Given the description of an element on the screen output the (x, y) to click on. 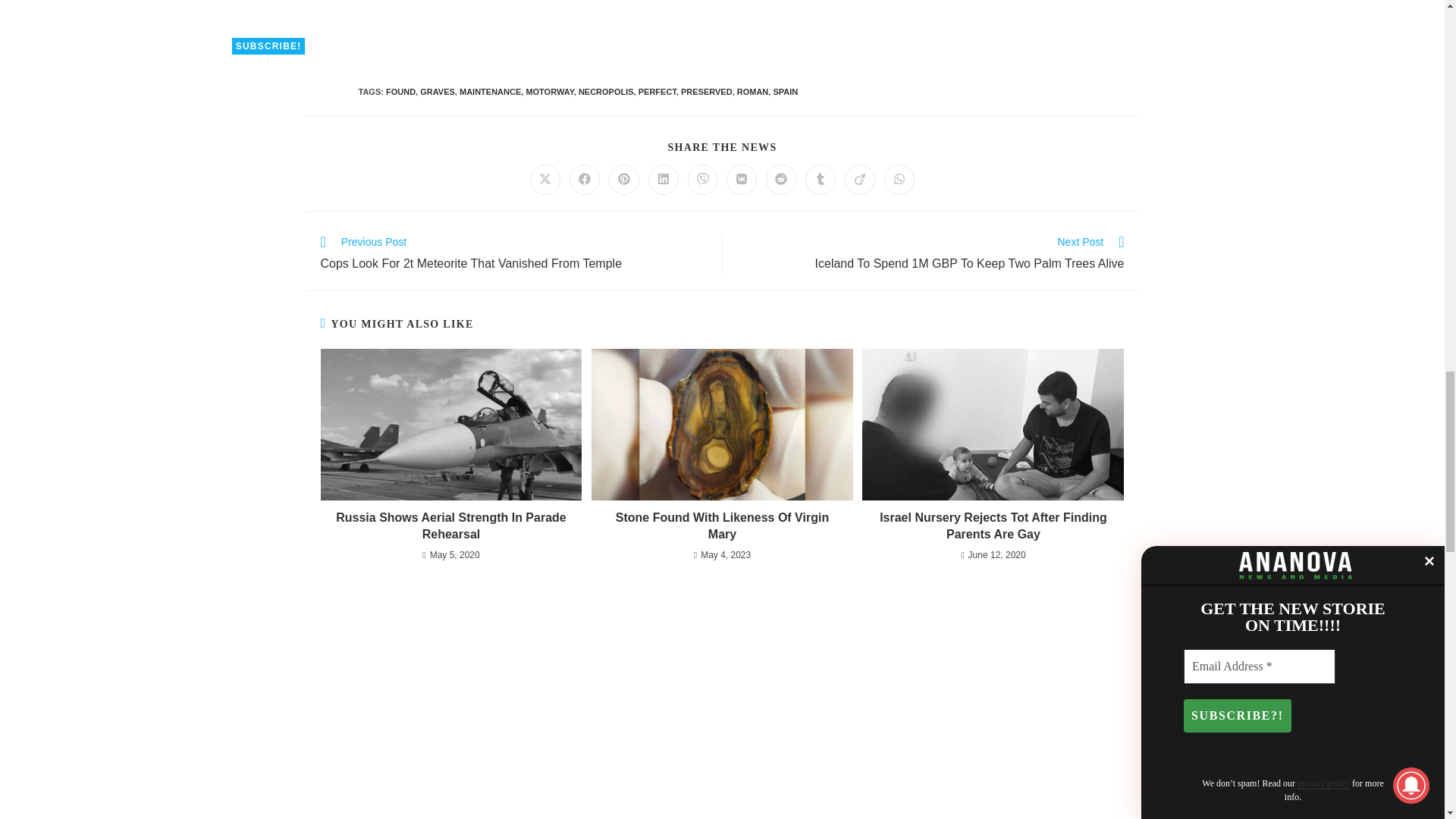
Subscribe! (268, 45)
